Given the description of an element on the screen output the (x, y) to click on. 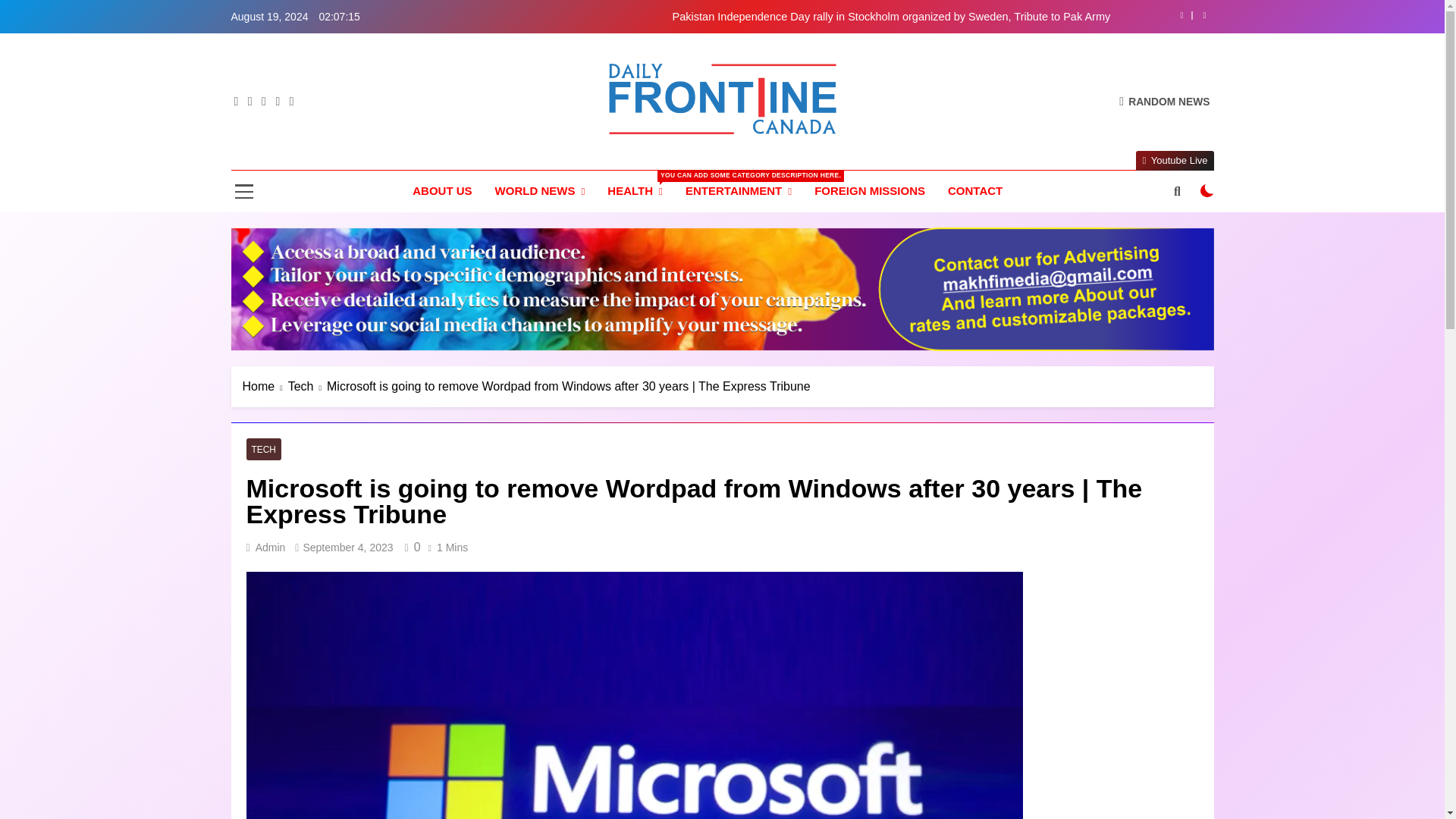
on (1206, 191)
RANDOM NEWS (1164, 101)
Daily Frontline (591, 156)
